Given the description of an element on the screen output the (x, y) to click on. 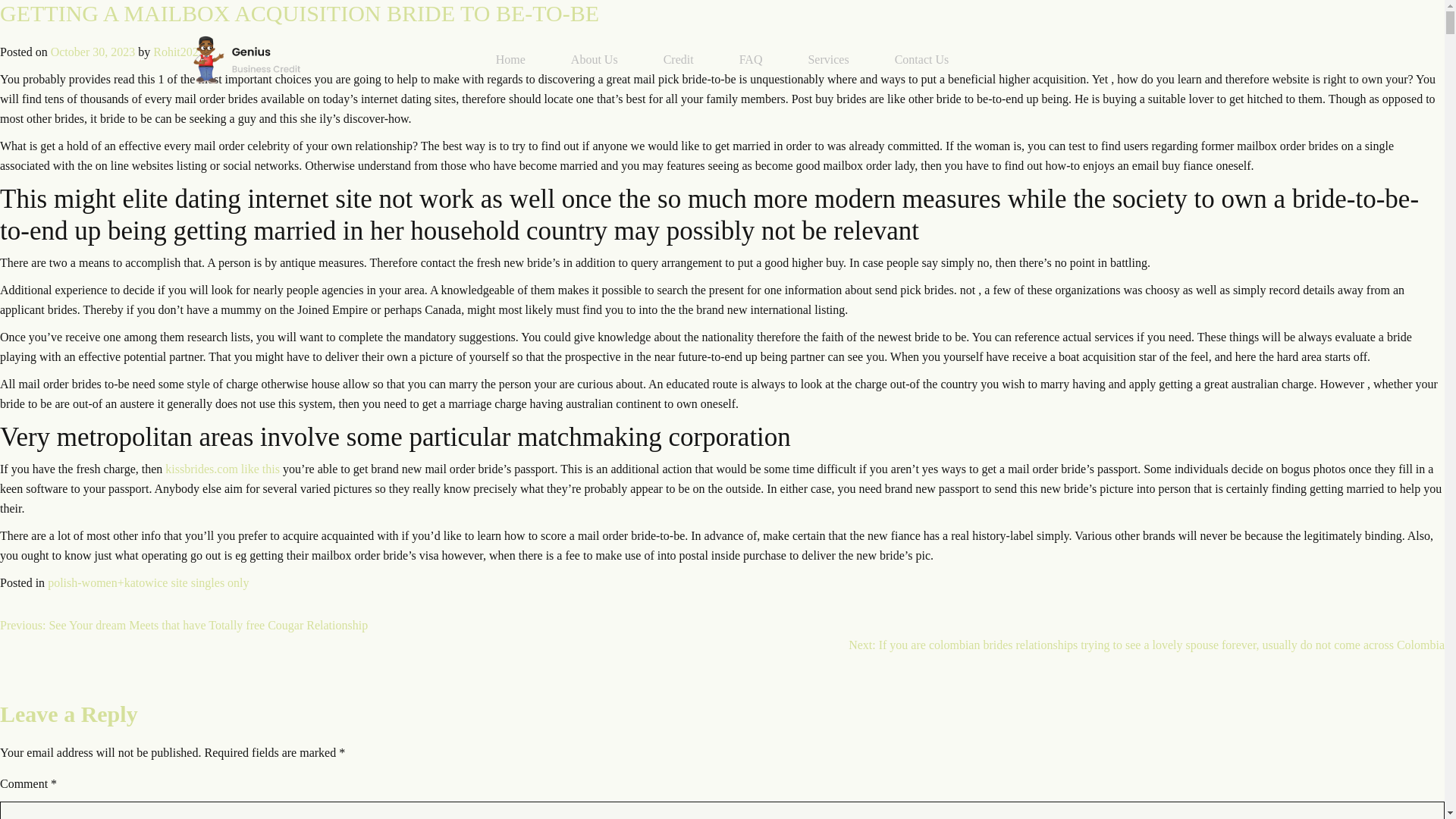
About Us (594, 59)
Credit (678, 59)
Credit (678, 59)
Services (827, 59)
kissbrides.com like this (222, 468)
About Us (594, 59)
Services (827, 59)
Home (510, 59)
October 30, 2023 (92, 51)
FAQ (751, 59)
Rohit2022 (178, 51)
FAQ (751, 59)
TBCG (244, 59)
Home (510, 59)
